Given the description of an element on the screen output the (x, y) to click on. 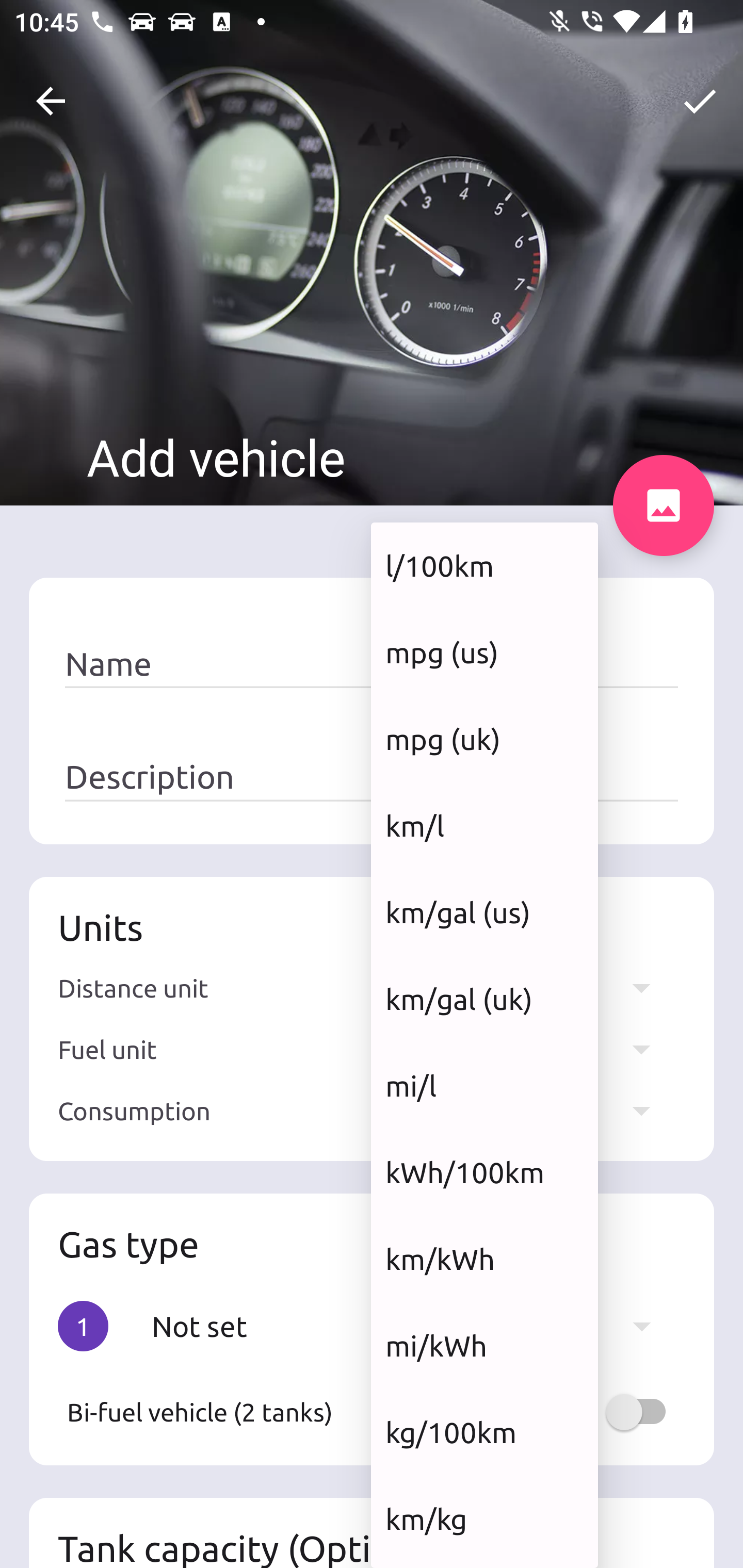
l/100km (484, 565)
mpg (us) (484, 652)
mpg (uk) (484, 739)
km/l (484, 825)
km/gal (us) (484, 912)
km/gal (uk) (484, 999)
mi/l (484, 1085)
kWh/100km (484, 1171)
km/kWh (484, 1259)
mi/kWh (484, 1346)
kg/100km (484, 1432)
km/kg (484, 1518)
